Given the description of an element on the screen output the (x, y) to click on. 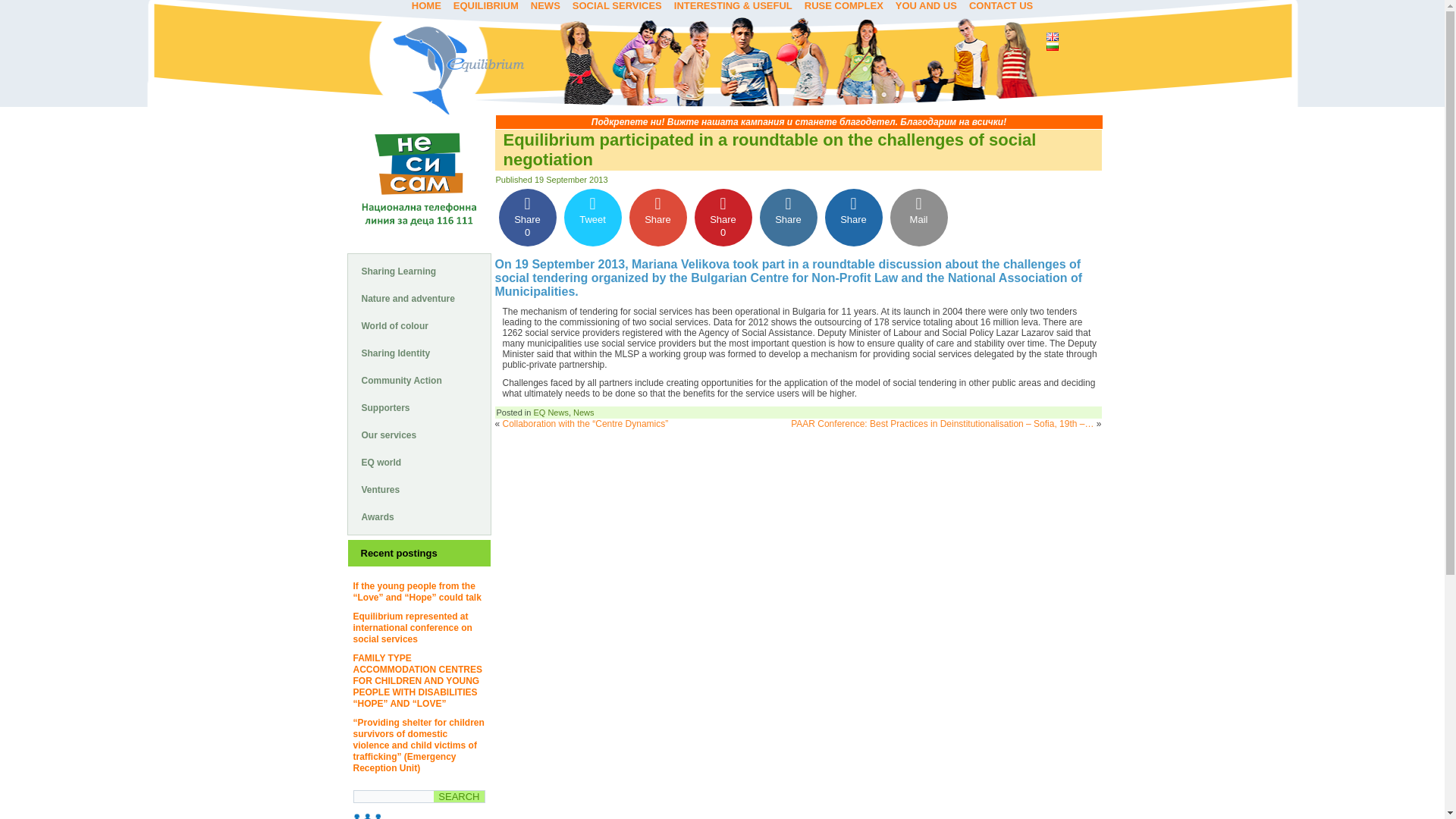
Home (426, 6)
Search (458, 796)
NEWS (545, 6)
SOCIAL SERVICES (617, 6)
RUSE COMPLEX (843, 6)
Nature and adventure (418, 298)
Sharing Learning (418, 271)
Our services (418, 435)
Sharing Identity (418, 353)
EQ world (418, 462)
Social services (617, 6)
CONTACT US (1000, 6)
Search (458, 796)
Supporters (418, 407)
YOU AND US (925, 6)
